Given the description of an element on the screen output the (x, y) to click on. 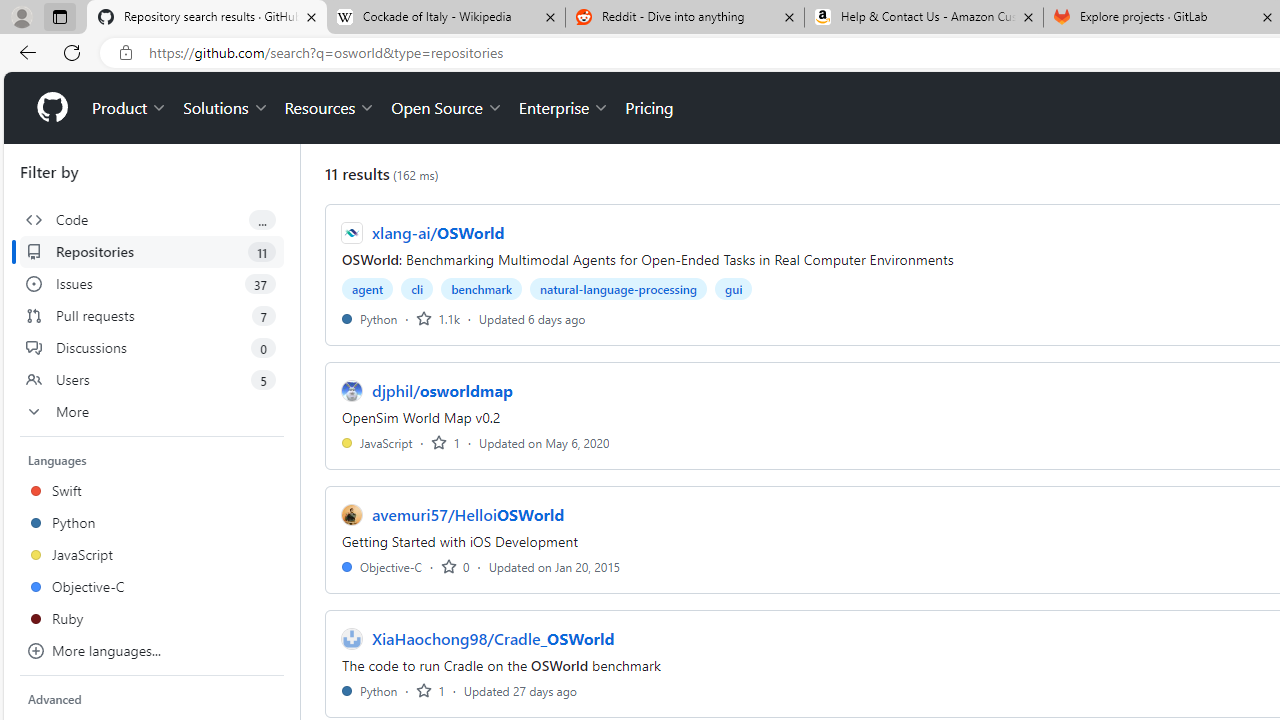
Updated 27 days ago (520, 690)
JavaScript (377, 442)
avemuri57/HelloiOSWorld (468, 515)
djphil/osworldmap (443, 390)
Product (130, 107)
